Given the description of an element on the screen output the (x, y) to click on. 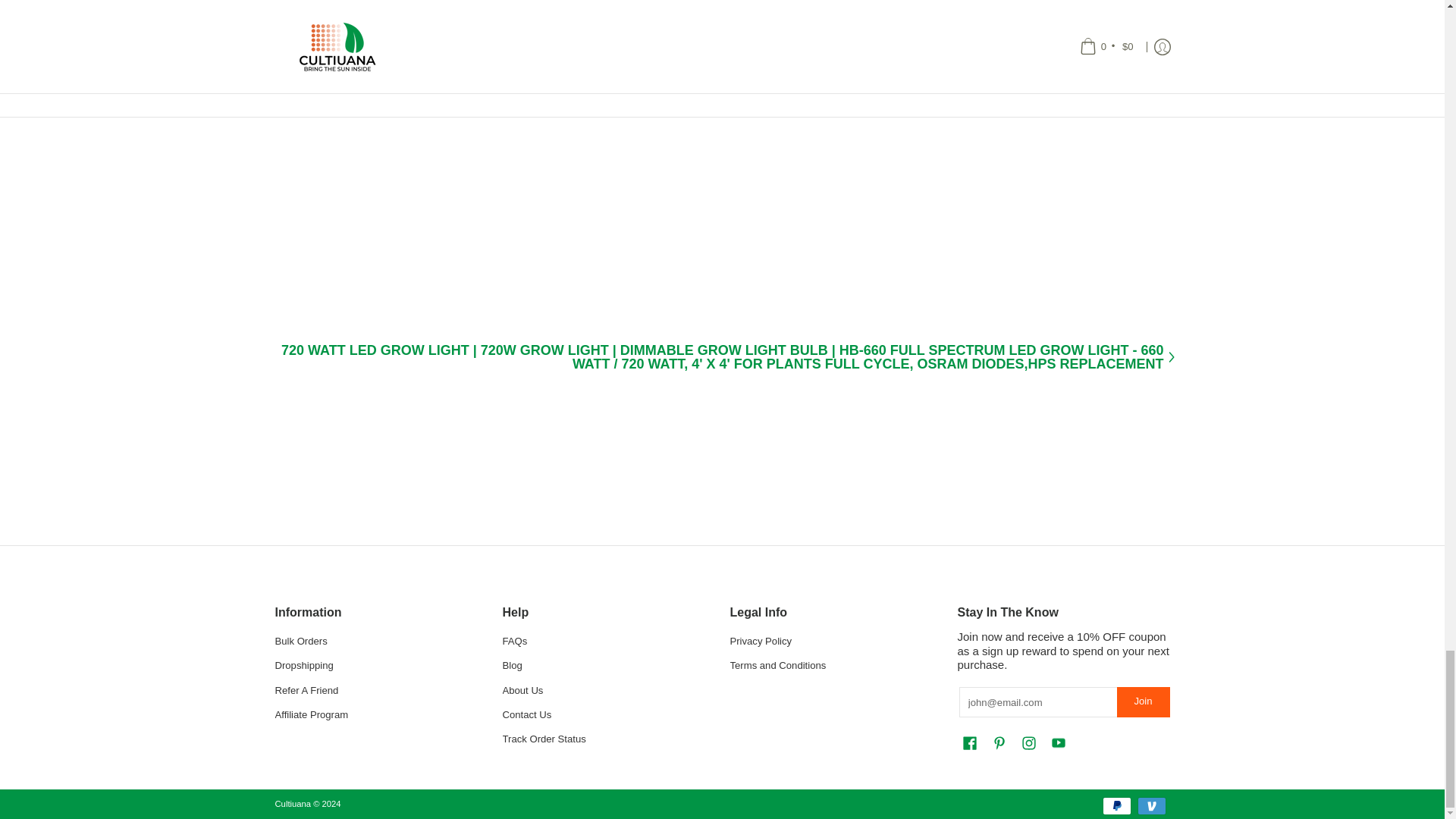
PayPal (1116, 805)
Venmo (1151, 805)
